Given the description of an element on the screen output the (x, y) to click on. 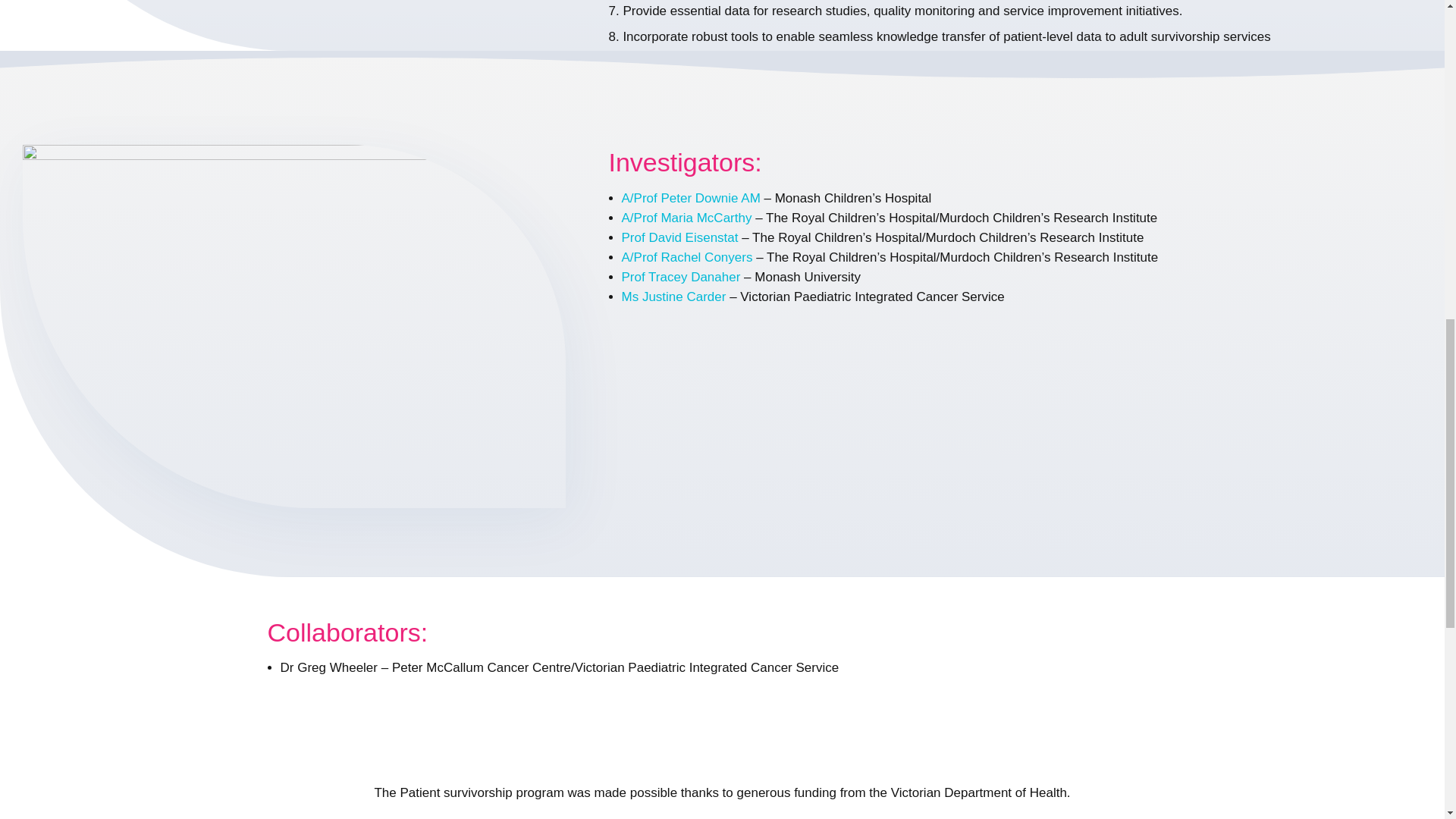
Prof David Eisenstat (679, 237)
Ms Justine Carder (673, 296)
Prof Tracey Danaher (681, 277)
